Given the description of an element on the screen output the (x, y) to click on. 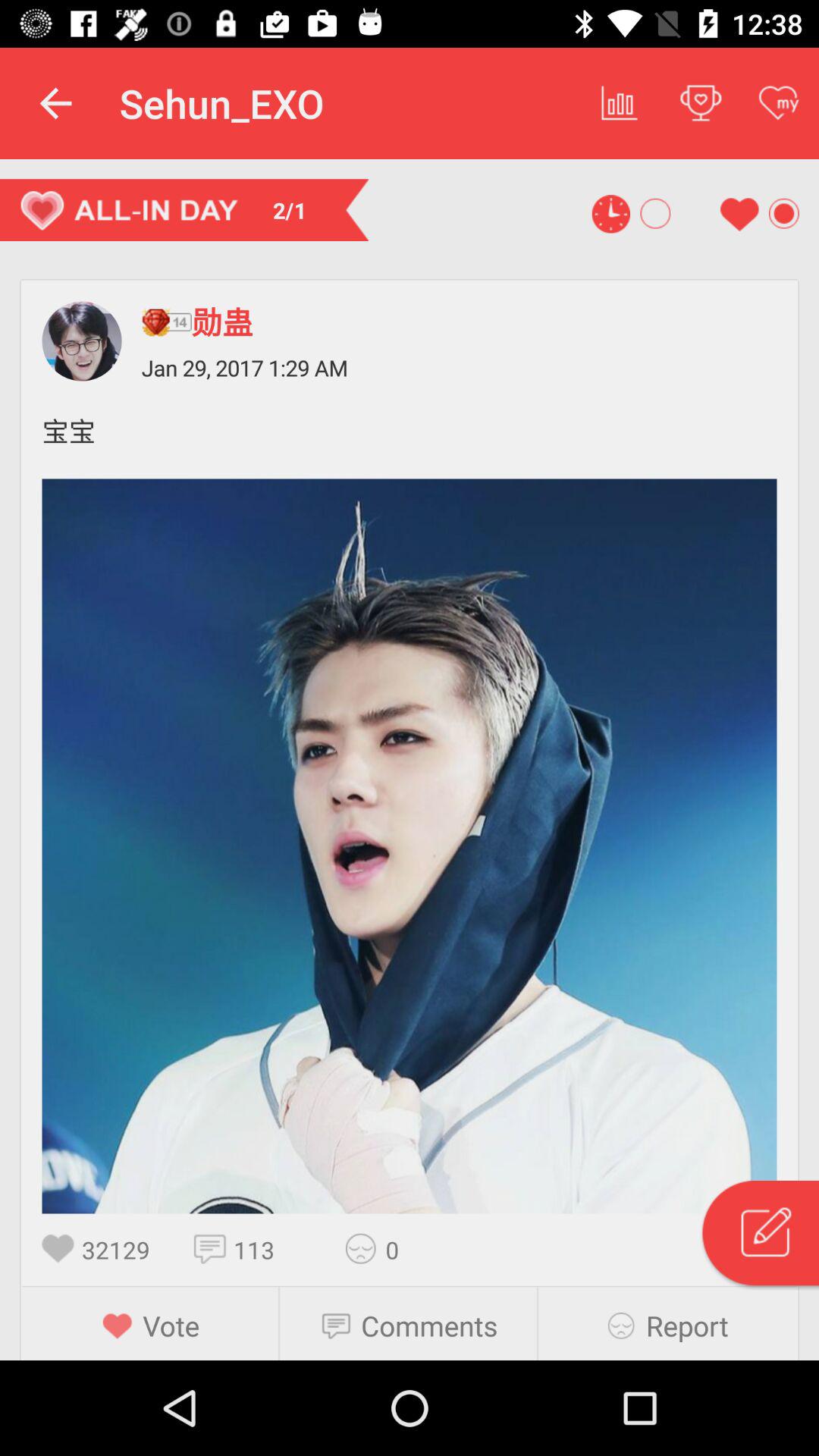
edit the article (759, 1235)
